Given the description of an element on the screen output the (x, y) to click on. 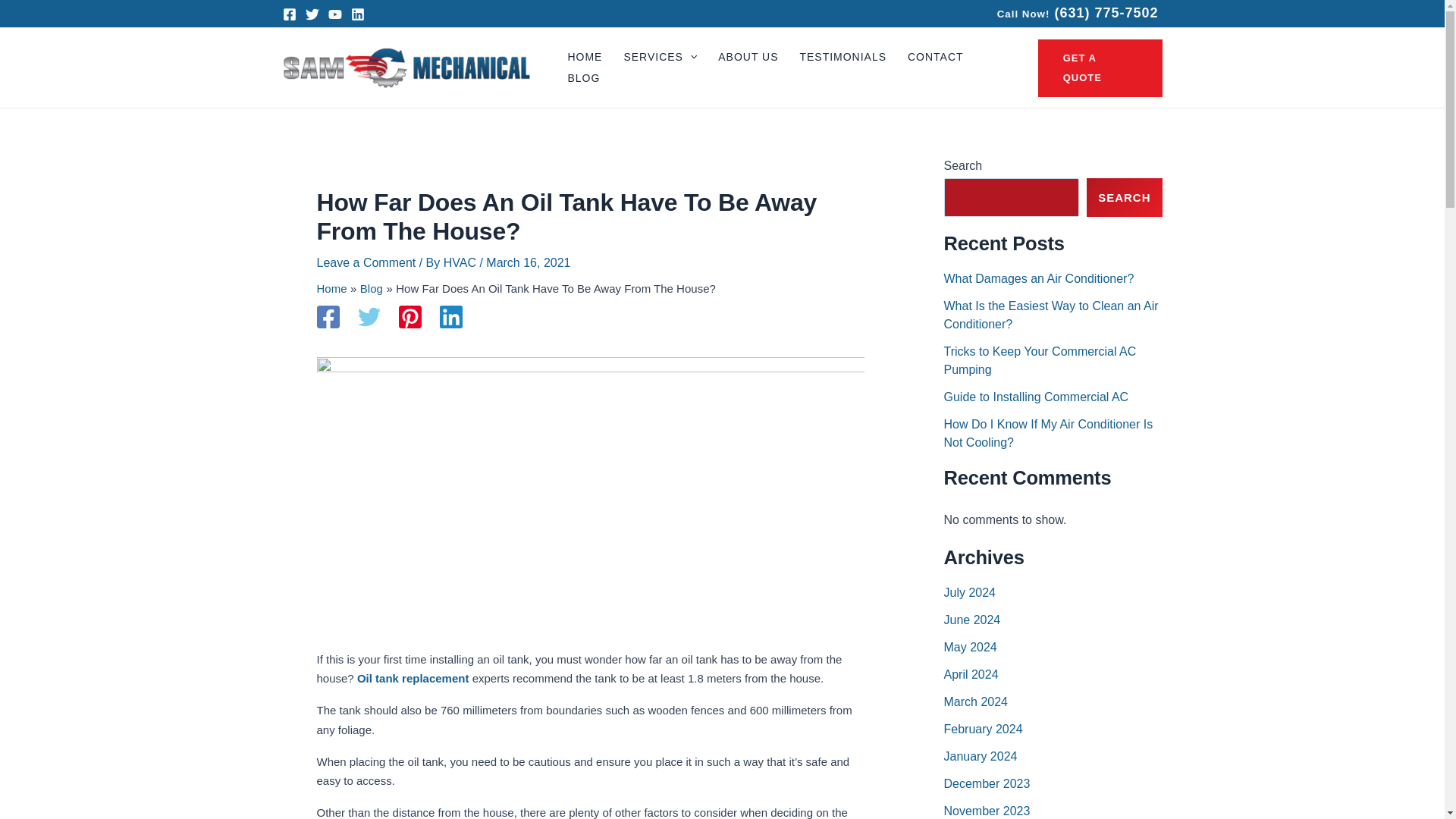
BLOG (583, 78)
GET A QUOTE (1099, 68)
View all posts by HVAC (462, 262)
SERVICES (659, 56)
TESTIMONIALS (842, 56)
CONTACT (935, 56)
ABOUT US (748, 56)
HOME (584, 56)
